Given the description of an element on the screen output the (x, y) to click on. 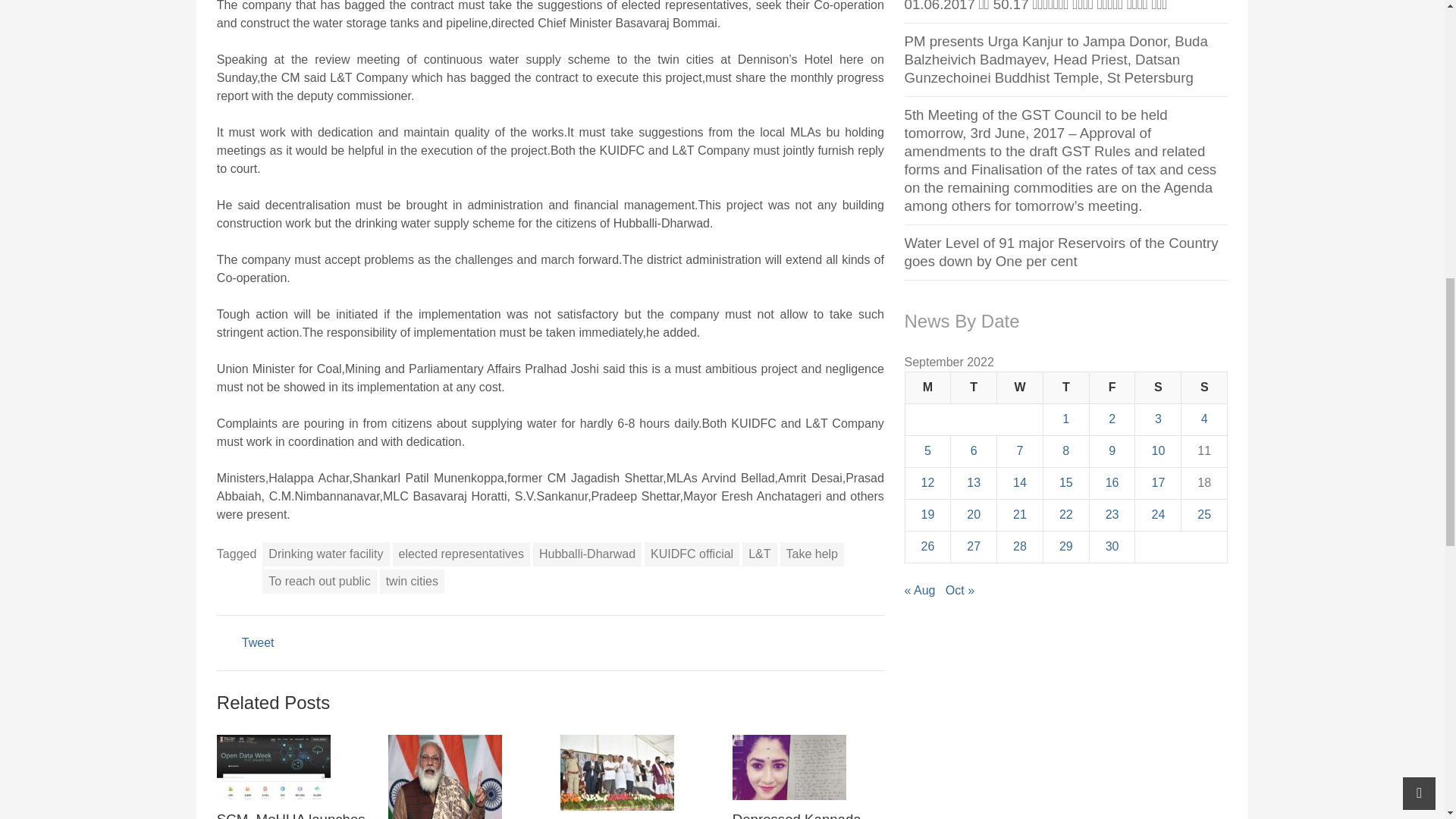
elected representatives (461, 554)
KUIDFC official (692, 554)
Tweet (258, 642)
Take help (812, 554)
Hubballi-Dharwad (587, 554)
Drinking water facility (325, 554)
To reach out public (318, 581)
twin cities (412, 581)
